Given the description of an element on the screen output the (x, y) to click on. 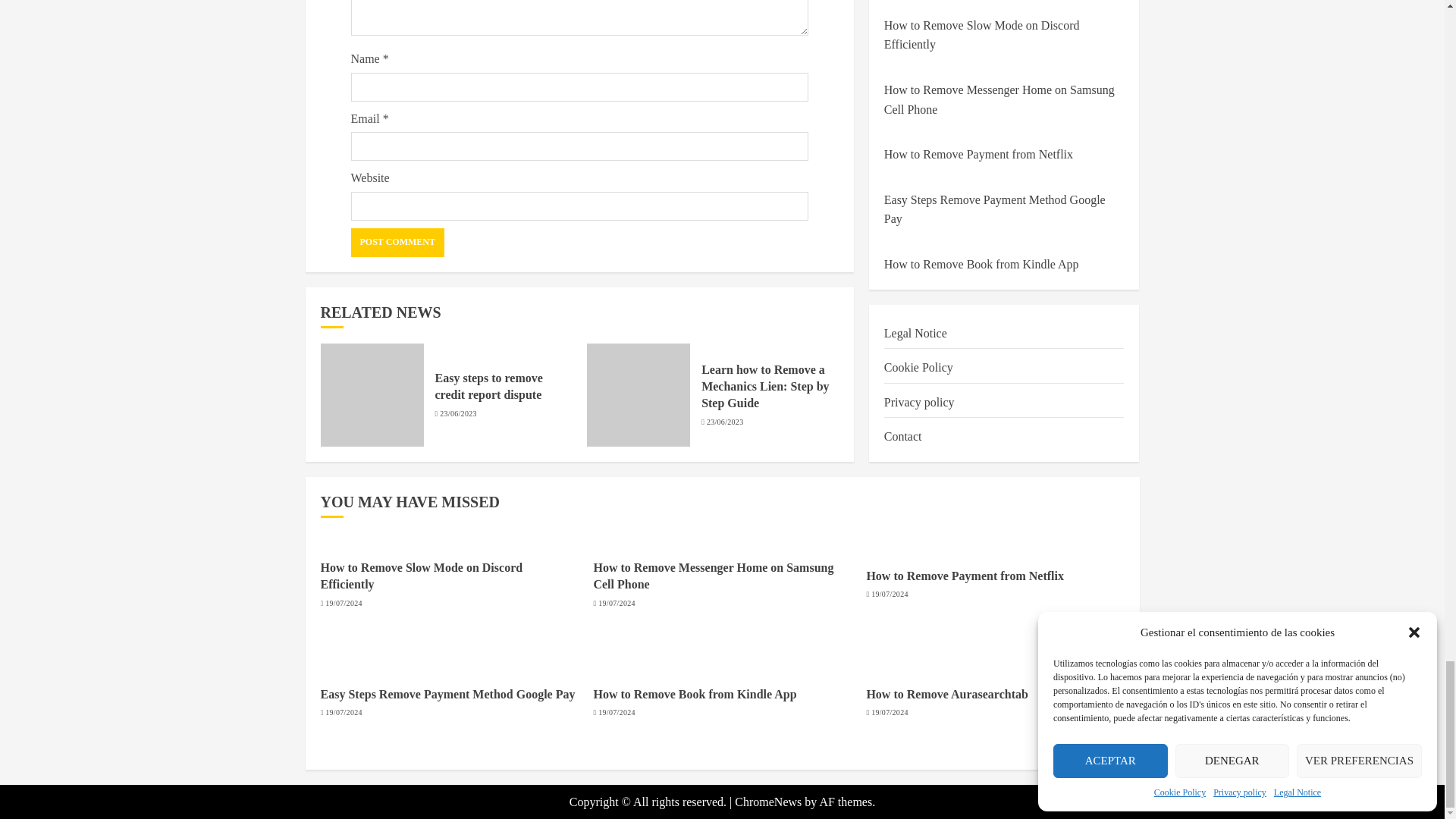
Post Comment (397, 242)
